Given the description of an element on the screen output the (x, y) to click on. 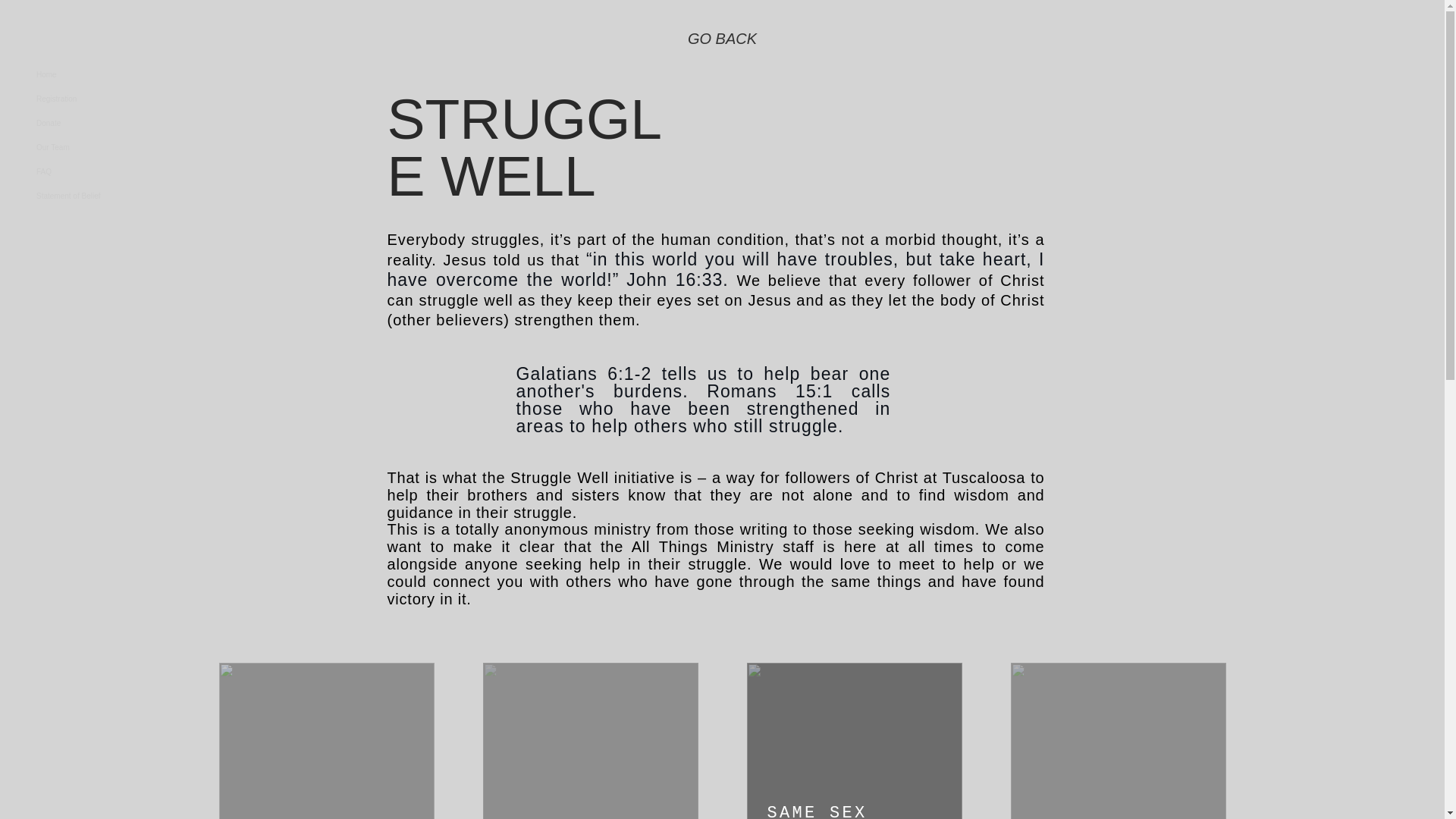
Statement of Belief (77, 196)
FAQ (77, 171)
Registration (77, 98)
Our Team (77, 147)
Donate (77, 123)
Home (77, 74)
